Given the description of an element on the screen output the (x, y) to click on. 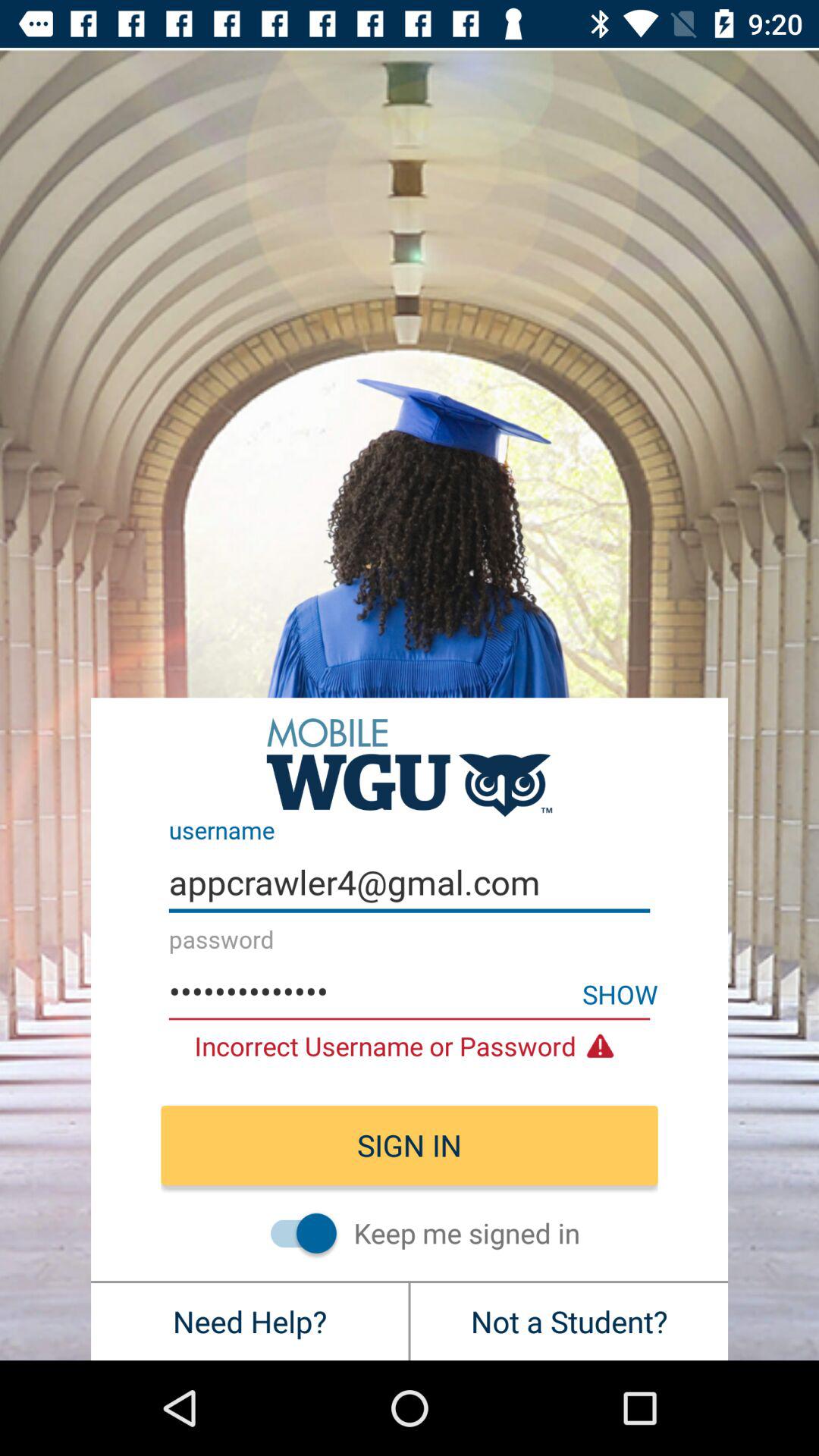
toggle stay logged in (295, 1232)
